Given the description of an element on the screen output the (x, y) to click on. 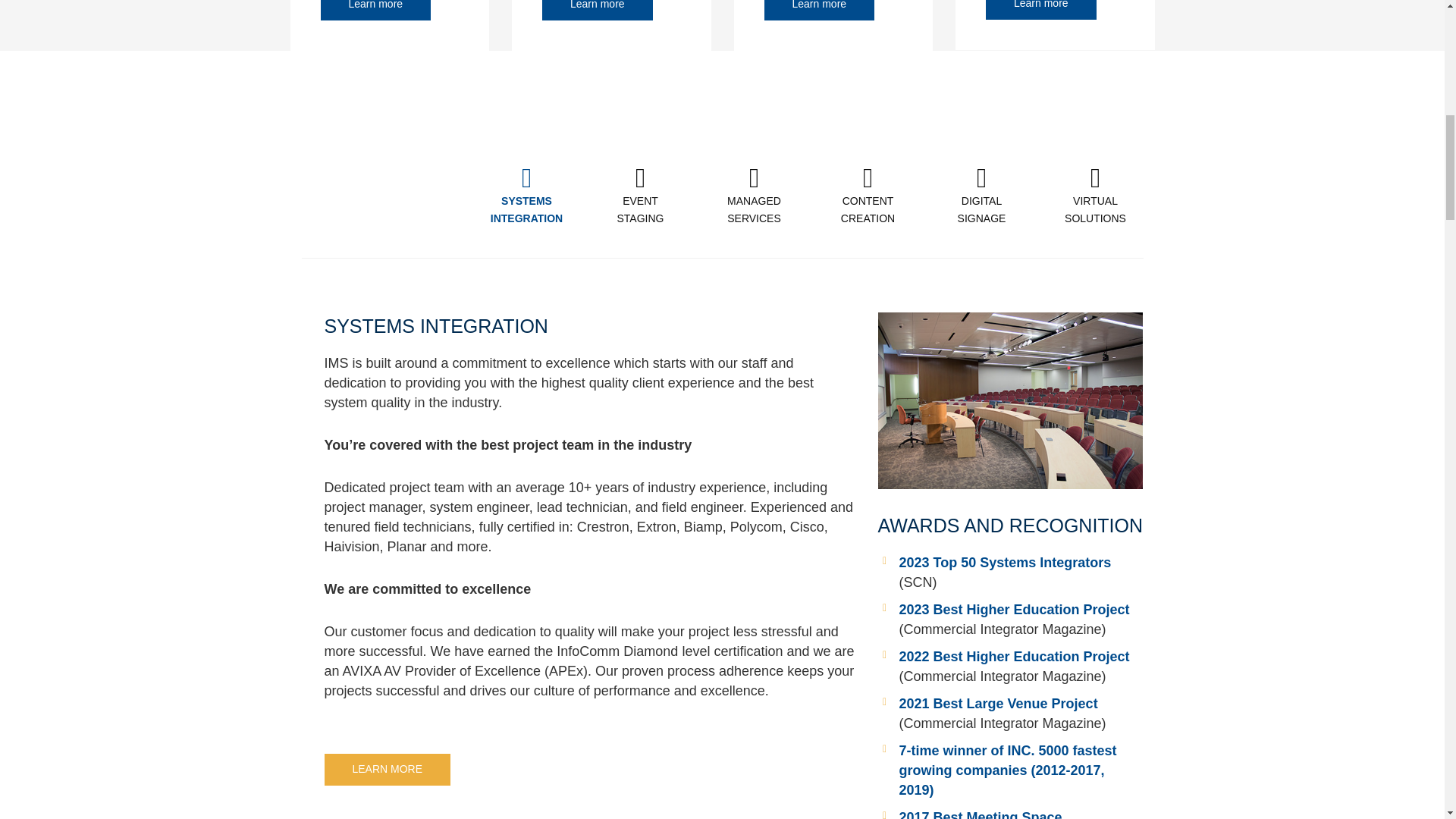
2017 Best Meeting Space (980, 814)
Learn more (1040, 9)
2023 Best Higher Education Project (1014, 609)
2023 Top 50 Systems Integrators (1005, 562)
Learn more (819, 10)
2022 Best Higher Education Project (1014, 656)
CONTENT CREATION (867, 195)
Learn more (375, 10)
DIGITAL SIGNAGE (981, 195)
VIRTUAL SOLUTIONS (1096, 195)
MANAGED SERVICES (753, 195)
LEARN MORE (387, 769)
Learn more (596, 10)
SYSTEMS INTEGRATION (526, 195)
2021 Best Large Venue Project (998, 703)
